Given the description of an element on the screen output the (x, y) to click on. 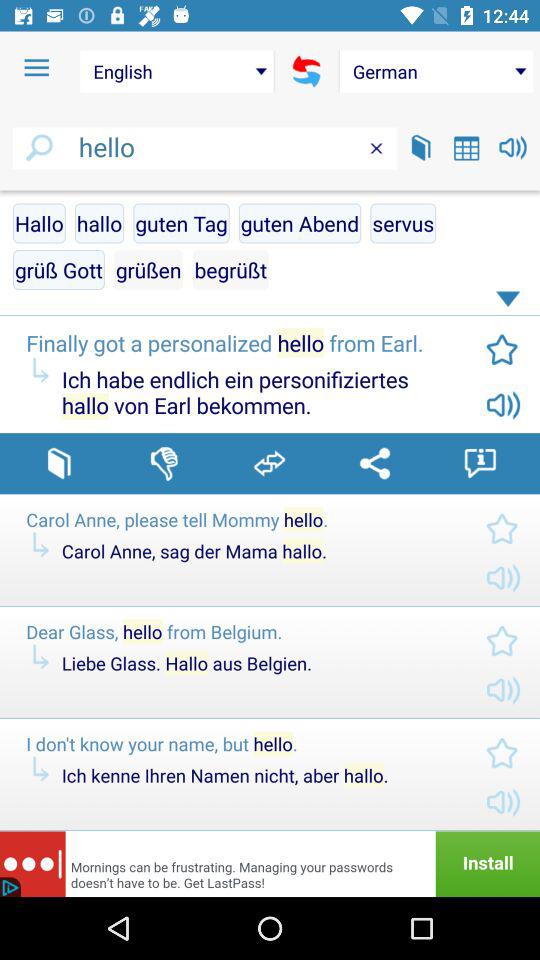
share (374, 463)
